Given the description of an element on the screen output the (x, y) to click on. 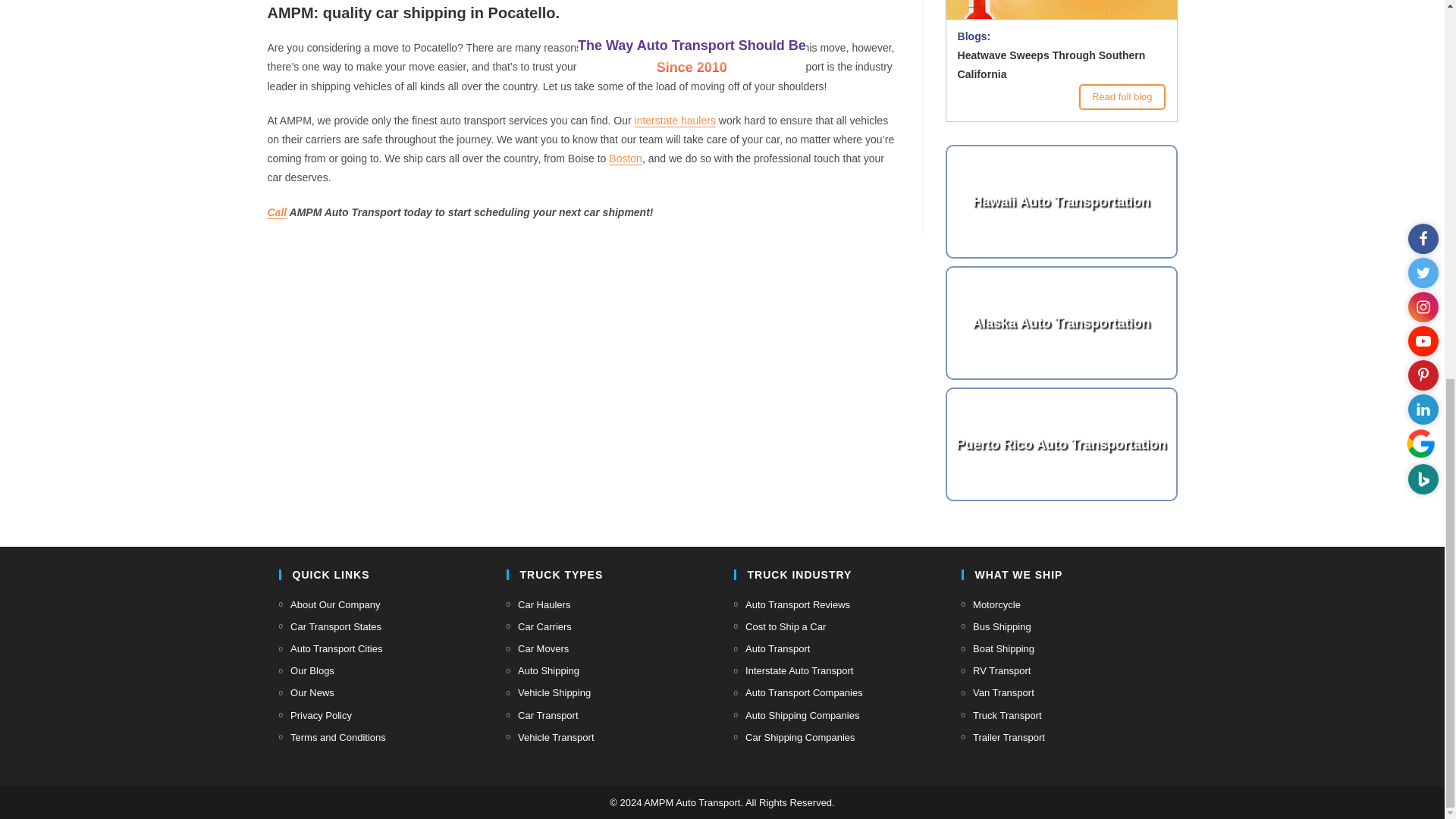
Heatwave Sweeps Through Southern California (1060, 64)
Blogs: (973, 36)
interstate haulers (675, 120)
Heatwave Sweeps Through Southern California (1061, 22)
Call (276, 212)
Read full blog (1122, 96)
Boston (625, 158)
